Given the description of an element on the screen output the (x, y) to click on. 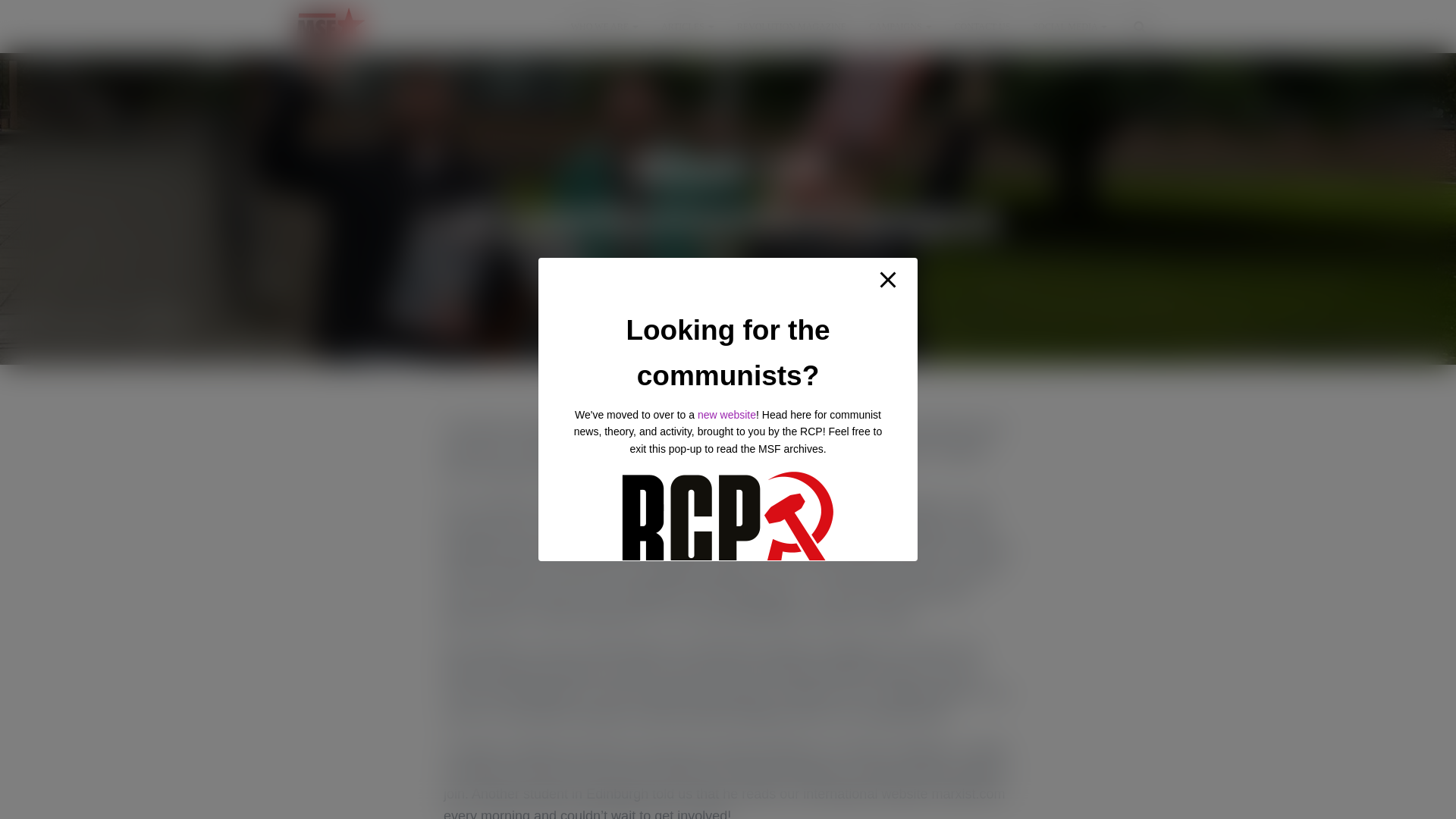
Marxist Student Federation (330, 26)
SOCIAL MEDIA (1070, 26)
REVOLUTION MAGAZINE (791, 26)
CAMPAIGNS (900, 26)
Articles (687, 26)
Search (3, 16)
Who we are (604, 26)
ARTICLES (687, 26)
WHO WE ARE (604, 26)
CONTACT US (982, 26)
